Given the description of an element on the screen output the (x, y) to click on. 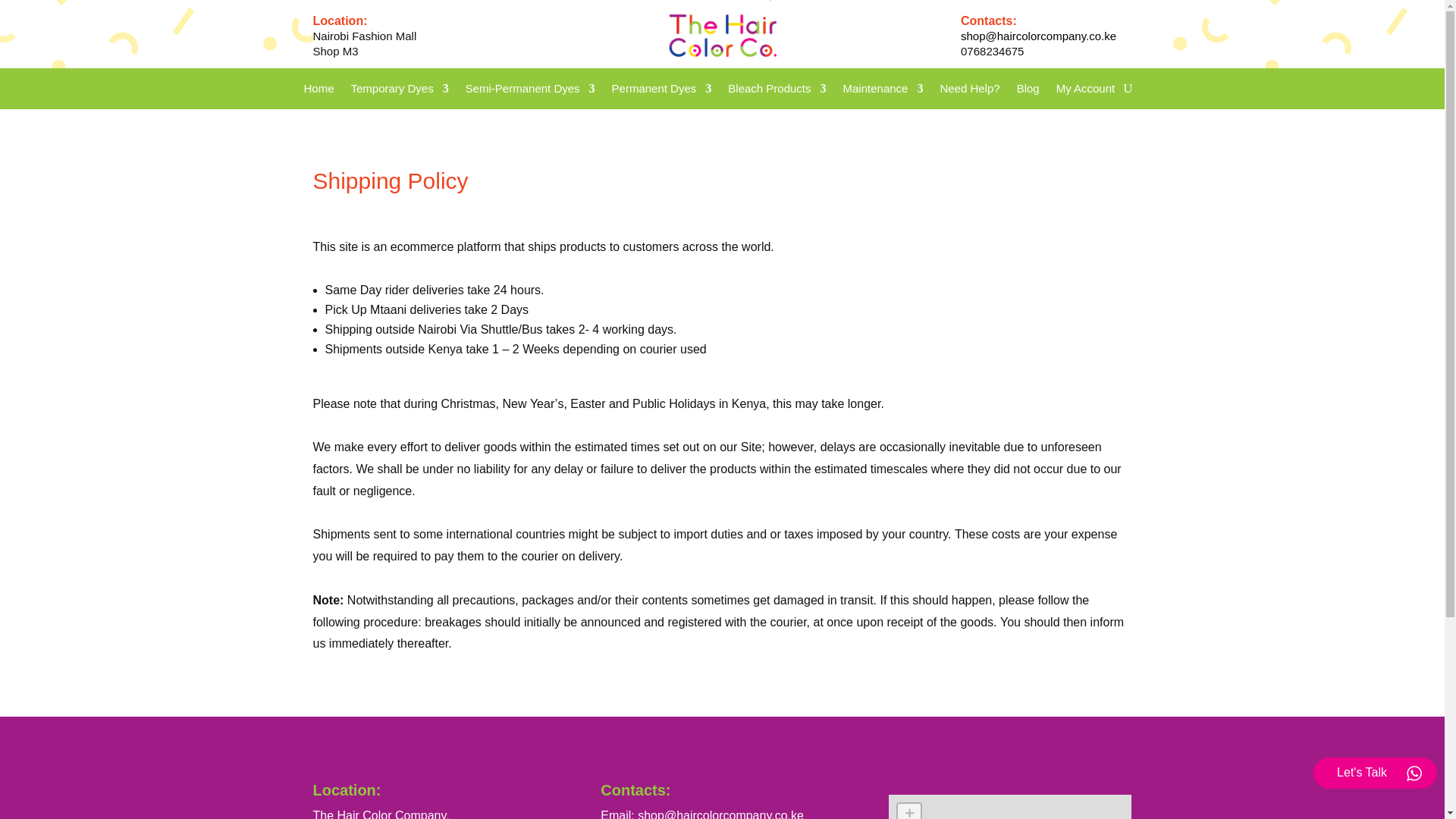
Zoom in (909, 811)
Permanent Dyes (661, 91)
Semi-Permanent Dyes (530, 91)
Temporary Dyes (399, 91)
Home (317, 91)
